Given the description of an element on the screen output the (x, y) to click on. 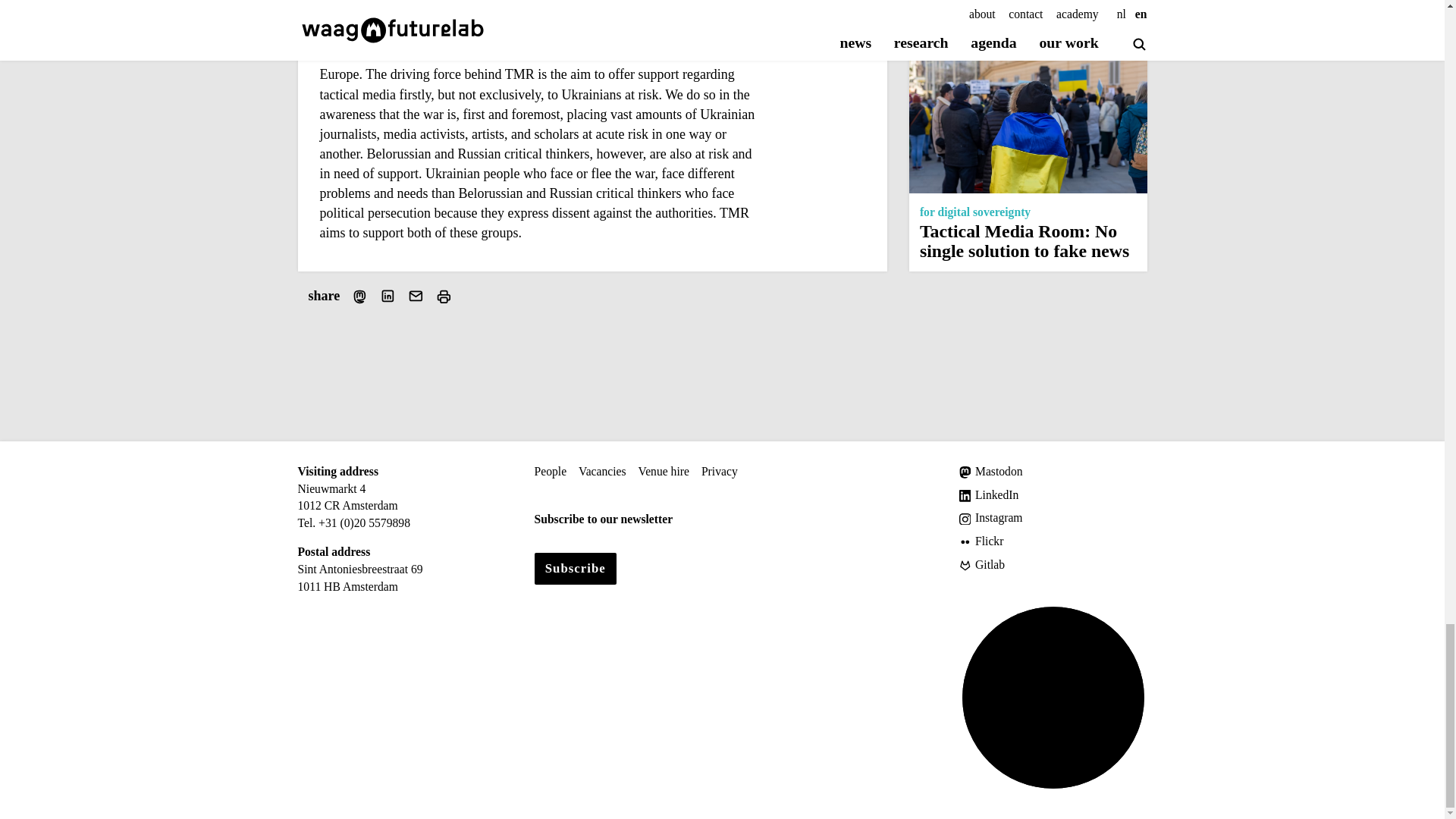
Flickr (1052, 541)
Gitlab (1052, 565)
Subscribe (574, 568)
Venue hire (663, 471)
Privacy (719, 471)
Share via e-mail (415, 296)
Print (443, 296)
Instagram (1052, 518)
Mastodon (1052, 471)
Share on LinkedIn (388, 296)
People (550, 471)
Vacancies (602, 471)
LinkedIn (1052, 495)
Share on Mastodon (360, 296)
